Given the description of an element on the screen output the (x, y) to click on. 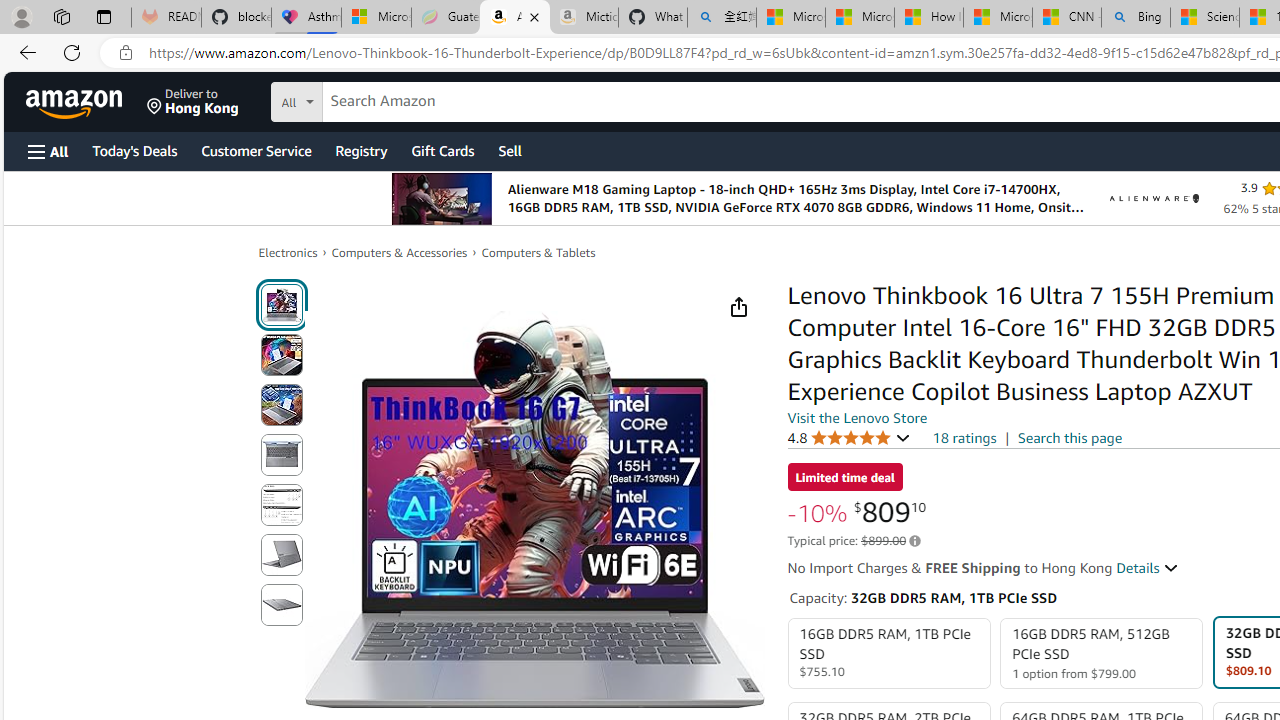
Learn more about Amazon pricing and savings (914, 541)
Registry (360, 150)
